Given the description of an element on the screen output the (x, y) to click on. 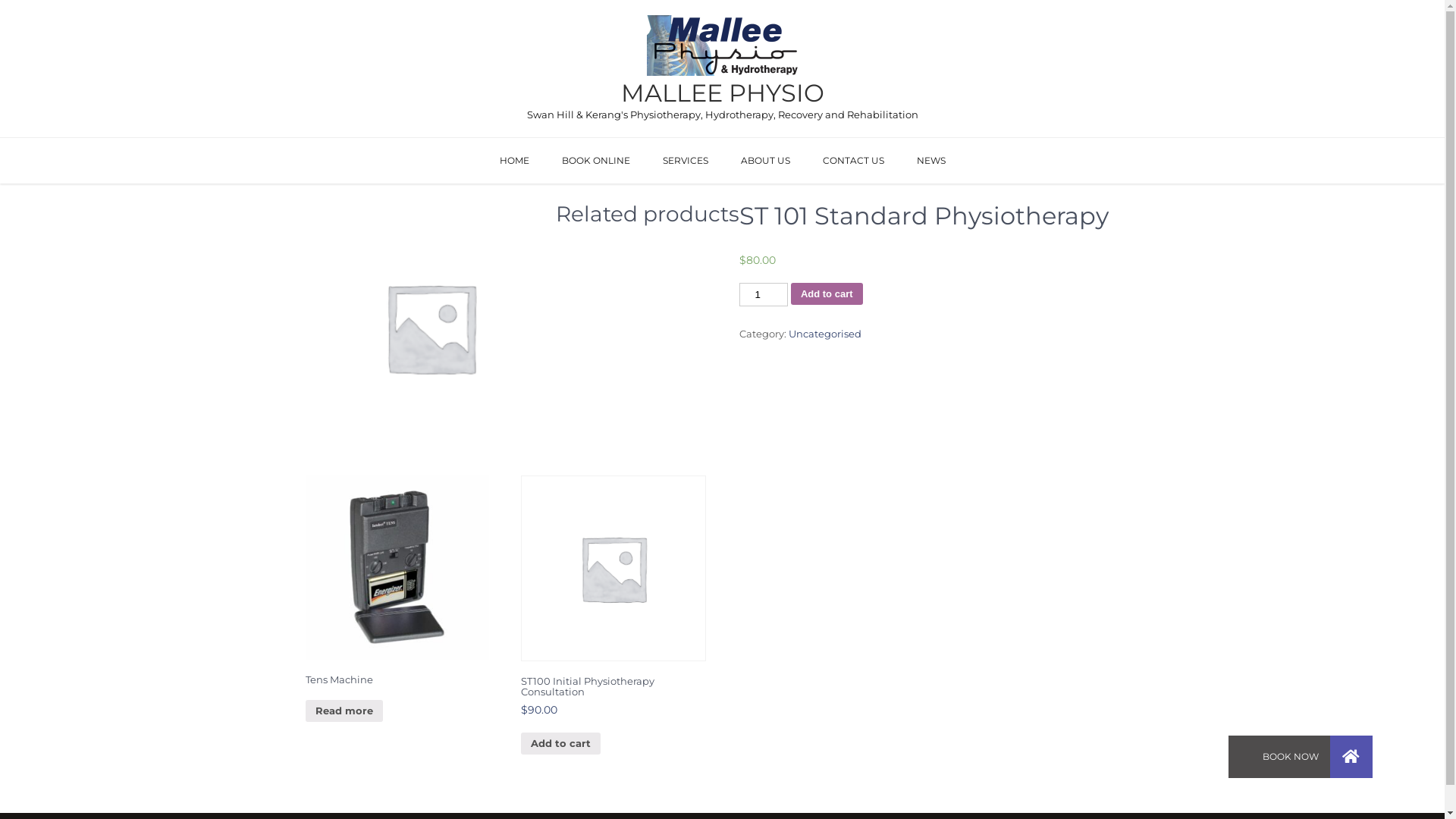
Add to cart Element type: text (826, 293)
ST100 Initial Physiotherapy Consultation
$90.00 Element type: text (612, 612)
SERVICES Element type: text (685, 160)
BOOK ONLINE Element type: text (595, 160)
Uncategorised Element type: text (824, 333)
ABOUT US Element type: text (764, 160)
NEWS Element type: text (930, 160)
HOME Element type: text (513, 160)
Qty Element type: hover (762, 294)
CONTACT US Element type: text (852, 160)
BOOK NOW Element type: text (1351, 756)
Tens Machine Element type: text (396, 595)
MALLEE PHYSIO Element type: text (721, 92)
Read more Element type: text (343, 710)
Add to cart Element type: text (560, 743)
